Given the description of an element on the screen output the (x, y) to click on. 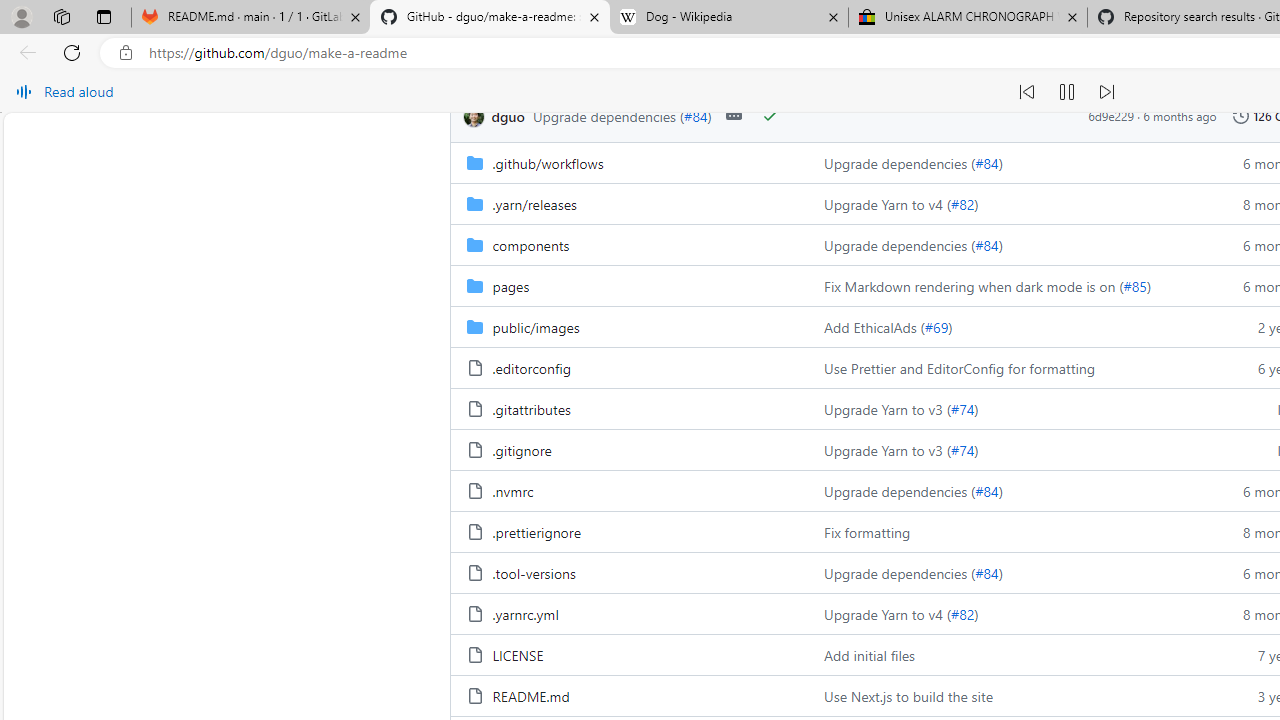
.tool-versions, (File) (533, 573)
.gitattributes, (File) (629, 408)
#84 (986, 573)
.yarnrc.yml, (File) (629, 613)
LICENSE, (File) (517, 655)
commits by dguo (507, 115)
Upgrade dependencies ( (899, 573)
dguo (476, 115)
README.md, (File) (530, 696)
.yarn/releases, (Directory) (629, 202)
success (769, 116)
Read previous paragraph (1026, 92)
Upgrade dependencies (#84) (1008, 572)
